Given the description of an element on the screen output the (x, y) to click on. 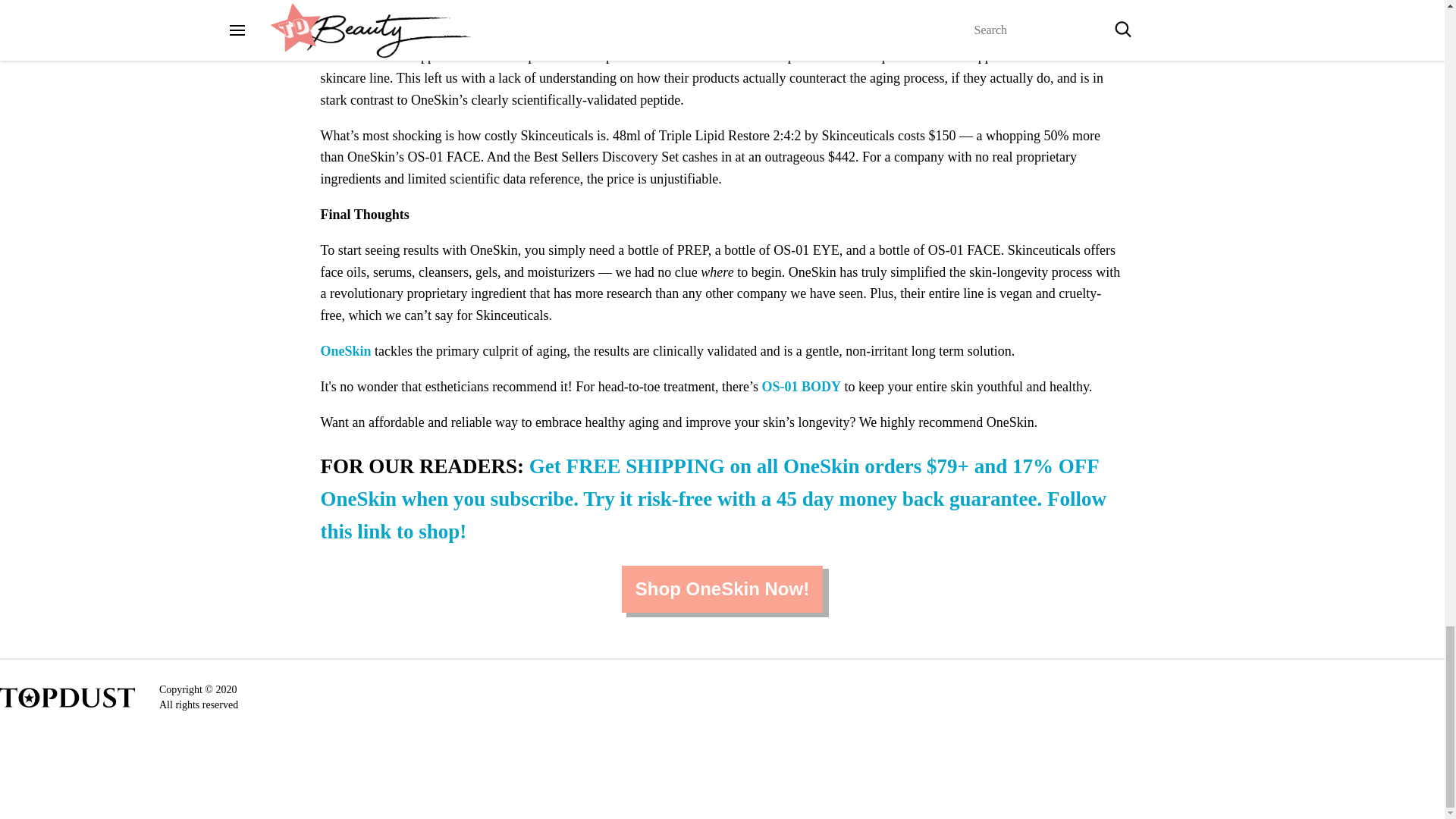
Shop OneSkin Now! (721, 588)
Logo (67, 695)
OS-01 BODY (801, 386)
OneSkin (345, 350)
